Given the description of an element on the screen output the (x, y) to click on. 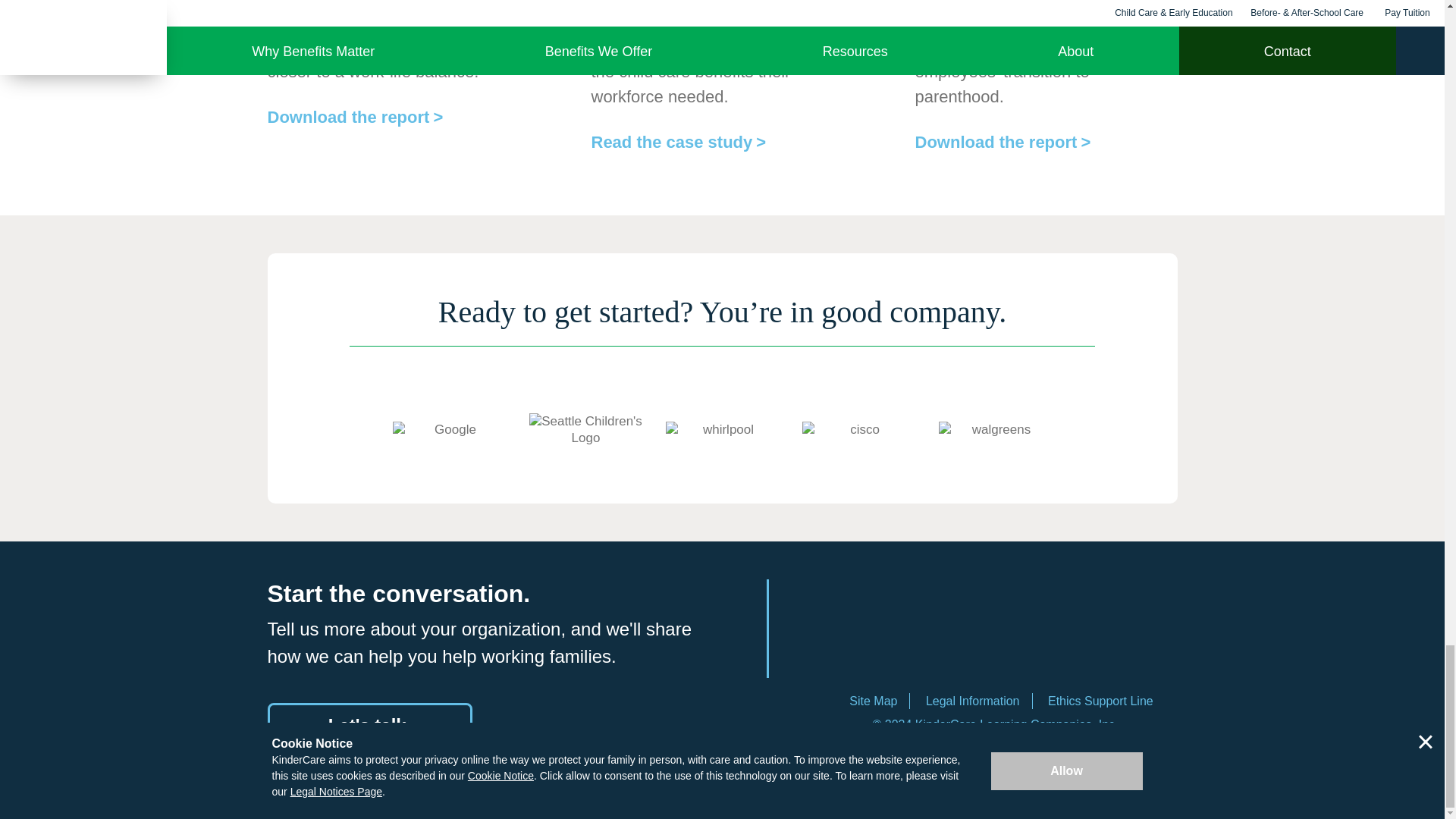
YouTube (1119, 641)
Read the case study (679, 141)
Instagram (1036, 642)
Instagram (1036, 641)
Legal Information (973, 700)
LinkedIn (869, 641)
Facebook (953, 641)
Read the case study (679, 141)
Download the report (354, 116)
Let's talk. (368, 725)
